Given the description of an element on the screen output the (x, y) to click on. 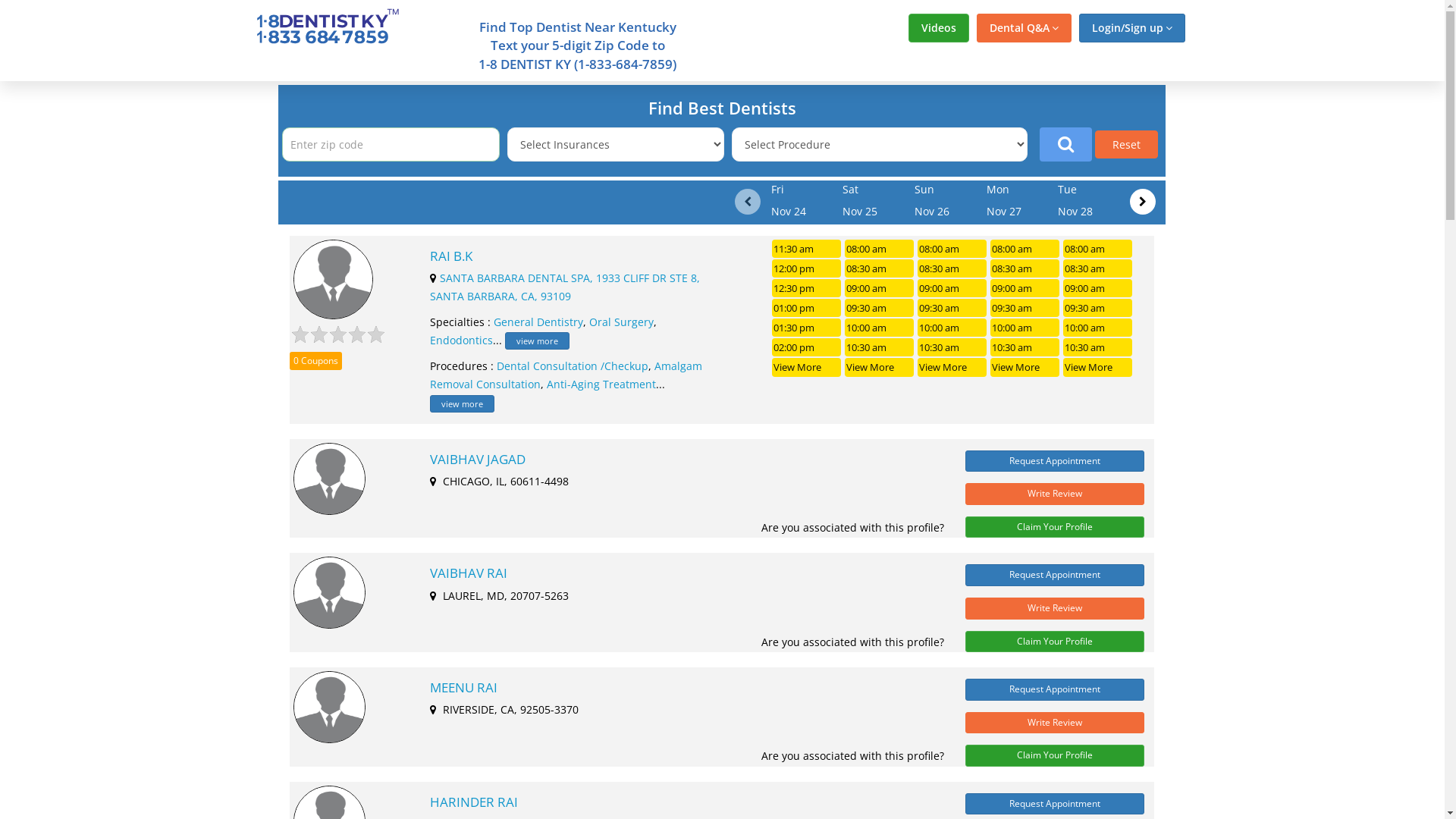
10:00 am Element type: text (1097, 327)
10:00 am Element type: text (878, 327)
12:30 pm Element type: text (805, 288)
Login/Sign up Element type: text (1131, 27)
Request Appointment Element type: text (1054, 461)
Advertisement Element type: hover (129, 308)
08:30 am Element type: text (951, 268)
12:00 pm Element type: text (805, 268)
view more Element type: text (461, 403)
08:30 am Element type: text (1024, 268)
10:30 am Element type: text (1024, 347)
Claim Your Profile Element type: text (1054, 527)
VAIBHAV RAI Element type: text (678, 573)
RAI B.K Element type: text (567, 256)
Request Appointment Element type: text (1054, 689)
09:30 am Element type: text (878, 307)
Claim Your Profile Element type: text (1054, 641)
09:00 am Element type: text (951, 288)
Request Appointment Element type: text (1054, 575)
Endodontics Element type: text (460, 339)
09:30 am Element type: text (1097, 307)
Oral Surgery Element type: text (621, 321)
Request Appointment Element type: text (1054, 804)
View More Element type: text (1097, 366)
02:00 pm Element type: text (805, 347)
08:00 am Element type: text (1097, 248)
01:00 pm Element type: text (805, 307)
Write Review Element type: text (1054, 608)
09:00 am Element type: text (1097, 288)
08:00 am Element type: text (878, 248)
10:00 am Element type: text (951, 327)
Anti-Aging Treatment Element type: text (600, 383)
10:00 am Element type: text (1024, 327)
Write Review Element type: text (1054, 723)
09:30 am Element type: text (1024, 307)
09:00 am Element type: text (878, 288)
08:30 am Element type: text (1097, 268)
Claim Your Profile Element type: text (1054, 755)
10:30 am Element type: text (951, 347)
11:30 am Element type: text (805, 248)
MEENU RAI Element type: text (678, 687)
View More Element type: text (1024, 366)
Dental Consultation /Checkup Element type: text (572, 365)
General Dentistry Element type: text (538, 321)
08:00 am Element type: text (951, 248)
09:30 am Element type: text (951, 307)
10:30 am Element type: text (1097, 347)
Videos Element type: text (938, 27)
view more Element type: text (537, 340)
09:00 am Element type: text (1024, 288)
VAIBHAV JAGAD Element type: text (678, 459)
08:30 am Element type: text (878, 268)
10:30 am Element type: text (878, 347)
View More Element type: text (805, 366)
Amalgam Removal Consultation Element type: text (565, 374)
08:00 am Element type: text (1024, 248)
Dental Q&A Element type: text (1023, 27)
0 Coupons Element type: text (315, 360)
View More Element type: text (951, 366)
View More Element type: text (878, 366)
HARINDER RAI Element type: text (678, 802)
01:30 pm Element type: text (805, 327)
Reset Element type: text (1126, 144)
Advertisement Element type: hover (1313, 308)
Write Review Element type: text (1054, 494)
